Given the description of an element on the screen output the (x, y) to click on. 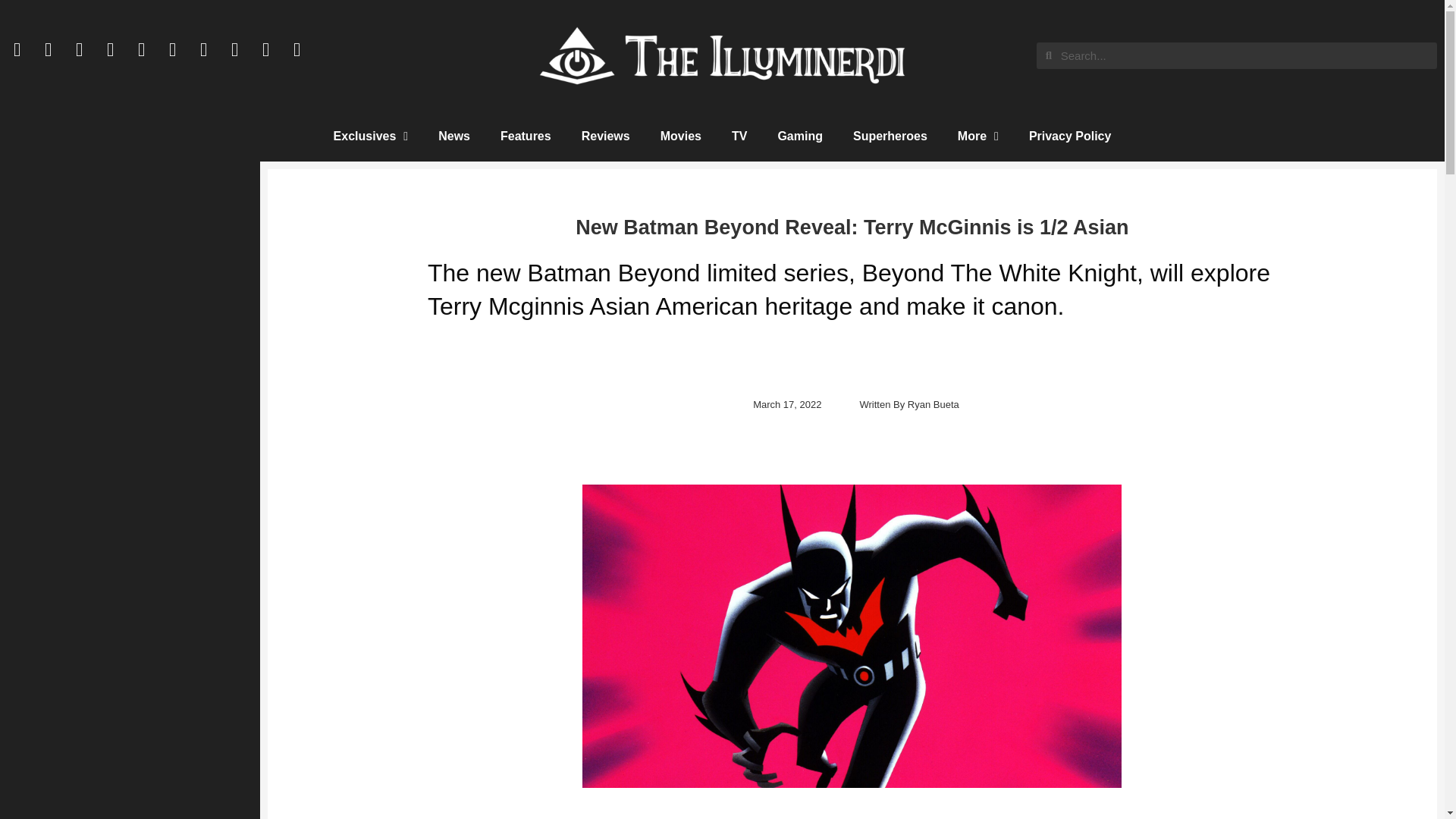
Gaming (799, 135)
News (453, 135)
Features (525, 135)
Exclusives (370, 135)
More (977, 135)
Superheroes (890, 135)
Movies (680, 135)
Privacy Policy (1069, 135)
TV (738, 135)
Reviews (605, 135)
